Given the description of an element on the screen output the (x, y) to click on. 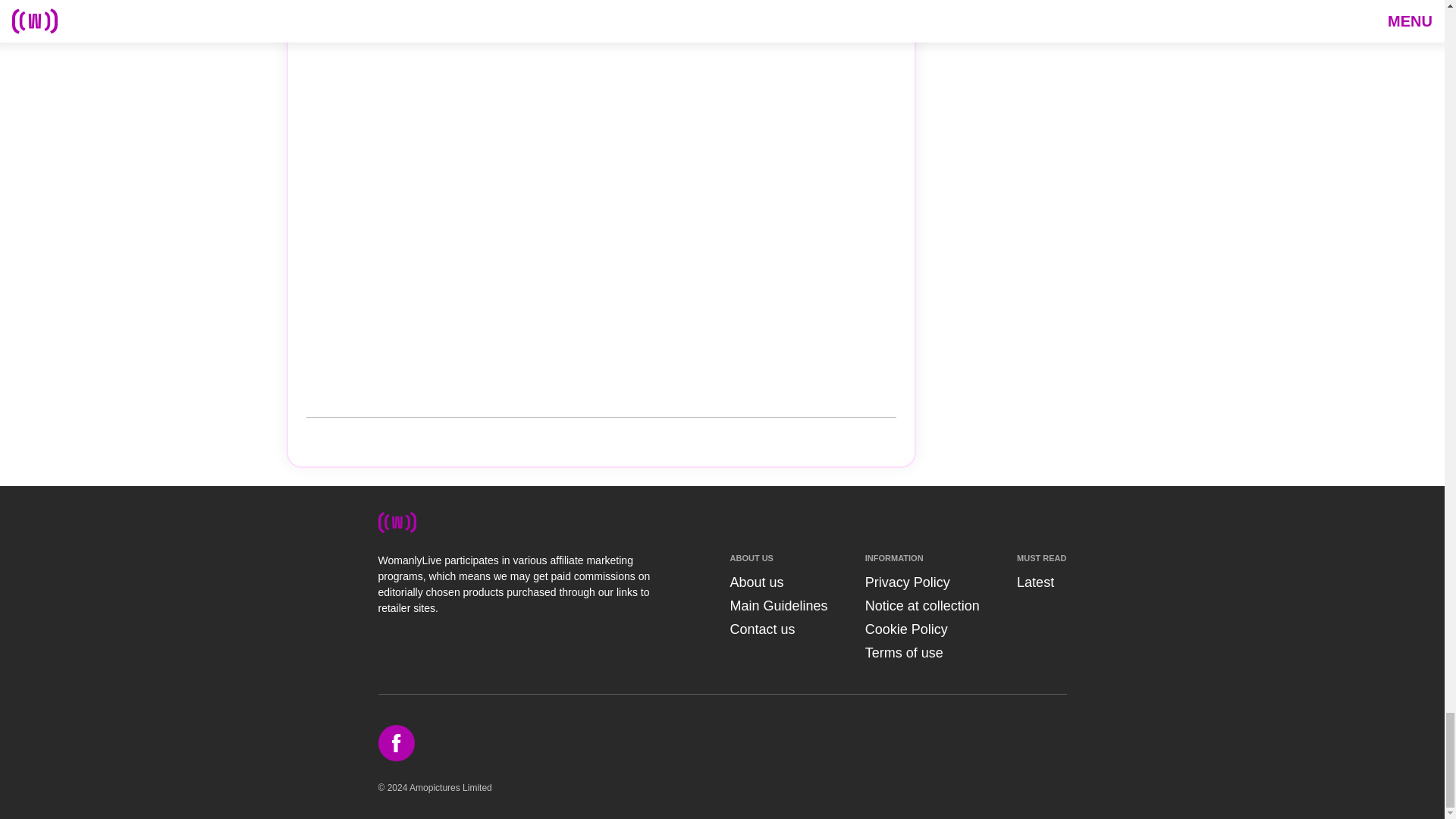
Contact us (761, 629)
Cookie Policy (905, 629)
Notice at collection (921, 605)
Terms of use (903, 652)
Main Guidelines (778, 605)
Privacy Policy (907, 581)
About us (756, 581)
